Given the description of an element on the screen output the (x, y) to click on. 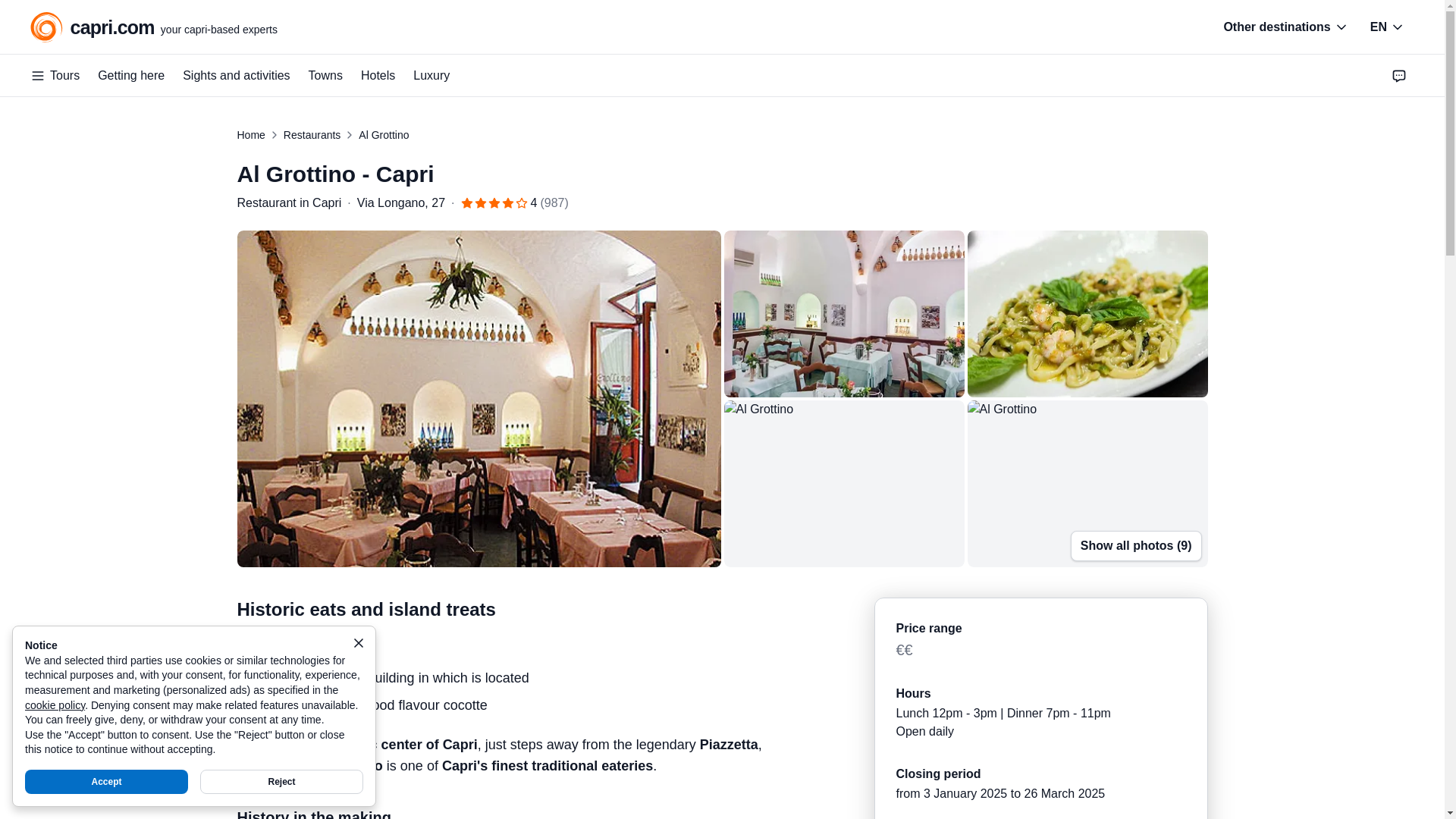
Getting here (130, 75)
Other destinations (154, 27)
Tours (1285, 27)
EN (55, 75)
